Given the description of an element on the screen output the (x, y) to click on. 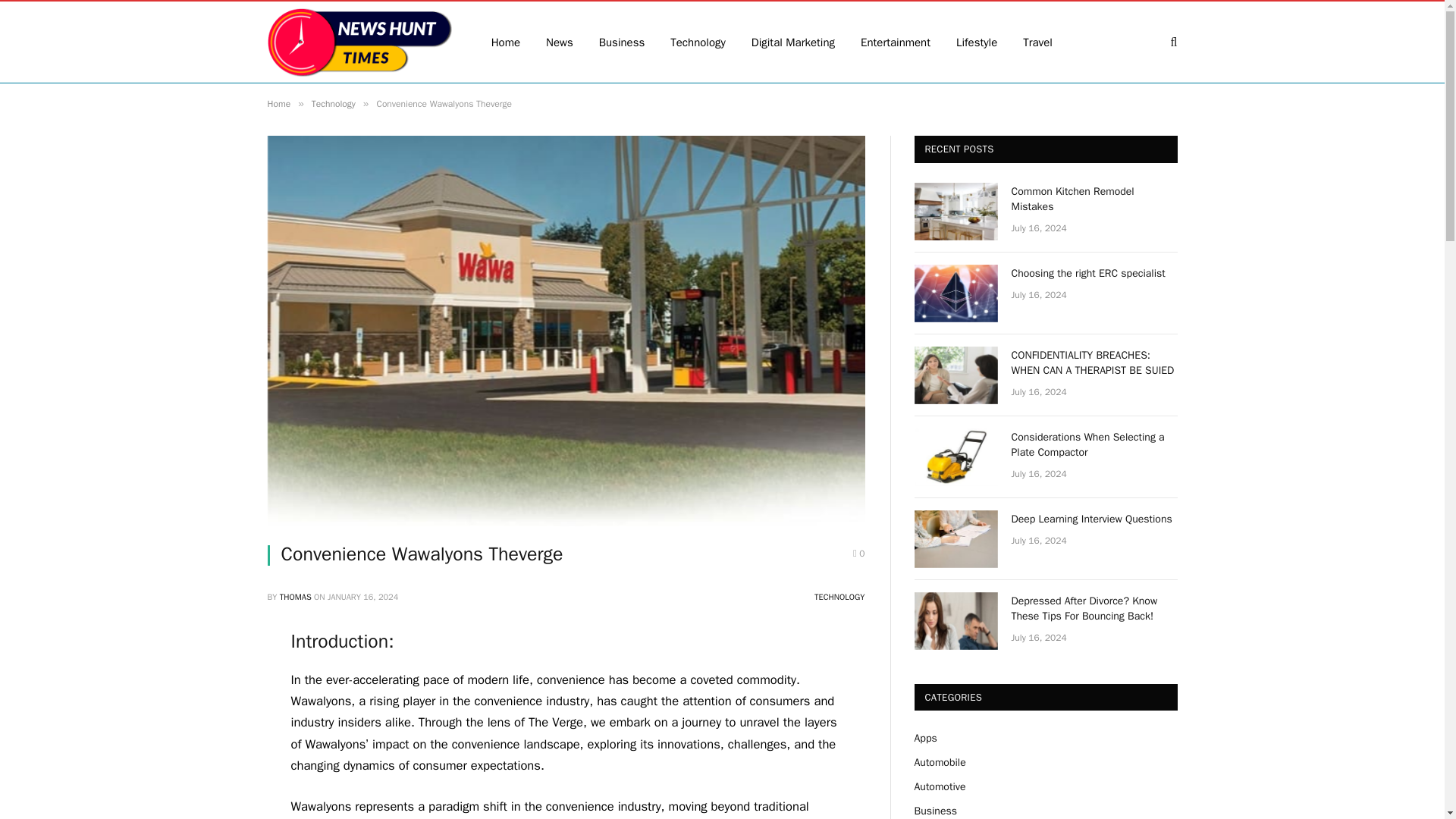
Common Kitchen Remodel Mistakes (1094, 199)
Choosing the right ERC specialist (1094, 273)
Apps (925, 738)
Technology (698, 41)
Deep Learning Interview Questions (1094, 519)
THOMAS (295, 596)
Automotive (940, 786)
Technology (333, 103)
2024-01-16 (362, 596)
Depressed After Divorce? Know These Tips For Bouncing Back! (955, 621)
Considerations When Selecting a Plate Compactor (955, 457)
TECHNOLOGY (838, 596)
CONFIDENTIALITY BREACHES: WHEN CAN A THERAPIST BE SUIED (1094, 363)
News Hunt Times (358, 42)
Common Kitchen Remodel Mistakes (955, 211)
